Given the description of an element on the screen output the (x, y) to click on. 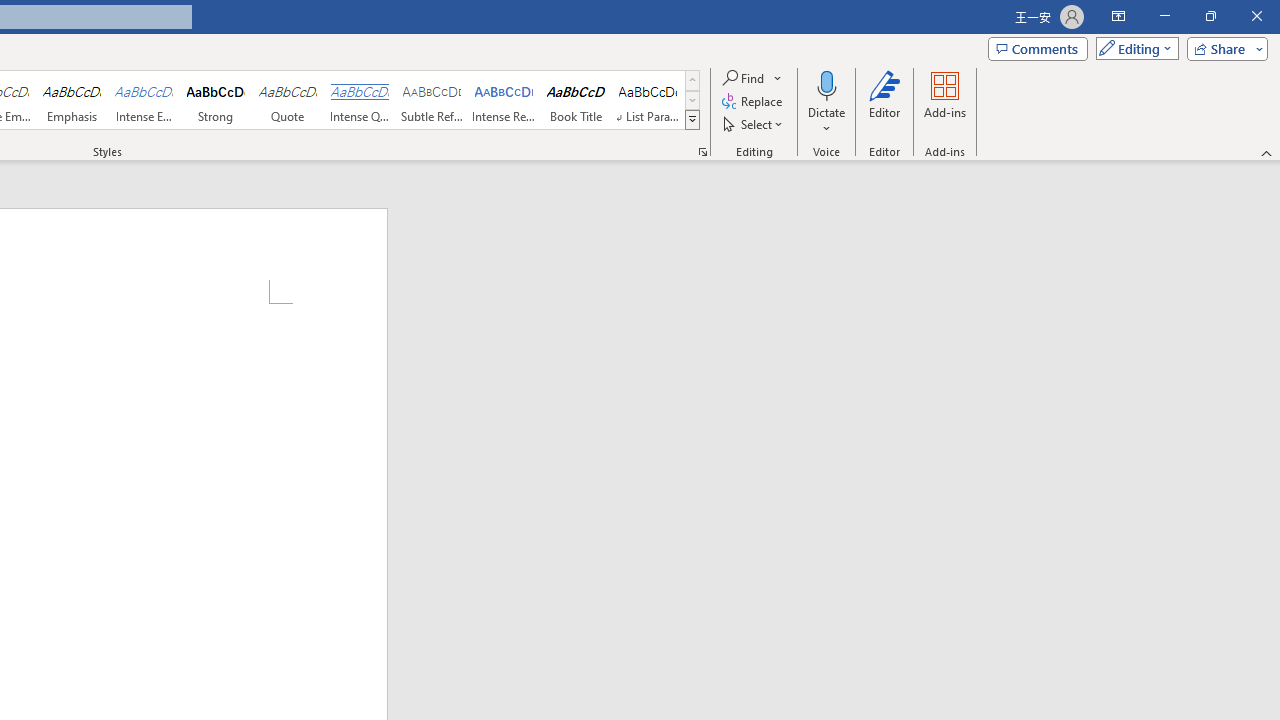
Intense Quote (359, 100)
Emphasis (71, 100)
Intense Emphasis (143, 100)
Intense Reference (504, 100)
